Given the description of an element on the screen output the (x, y) to click on. 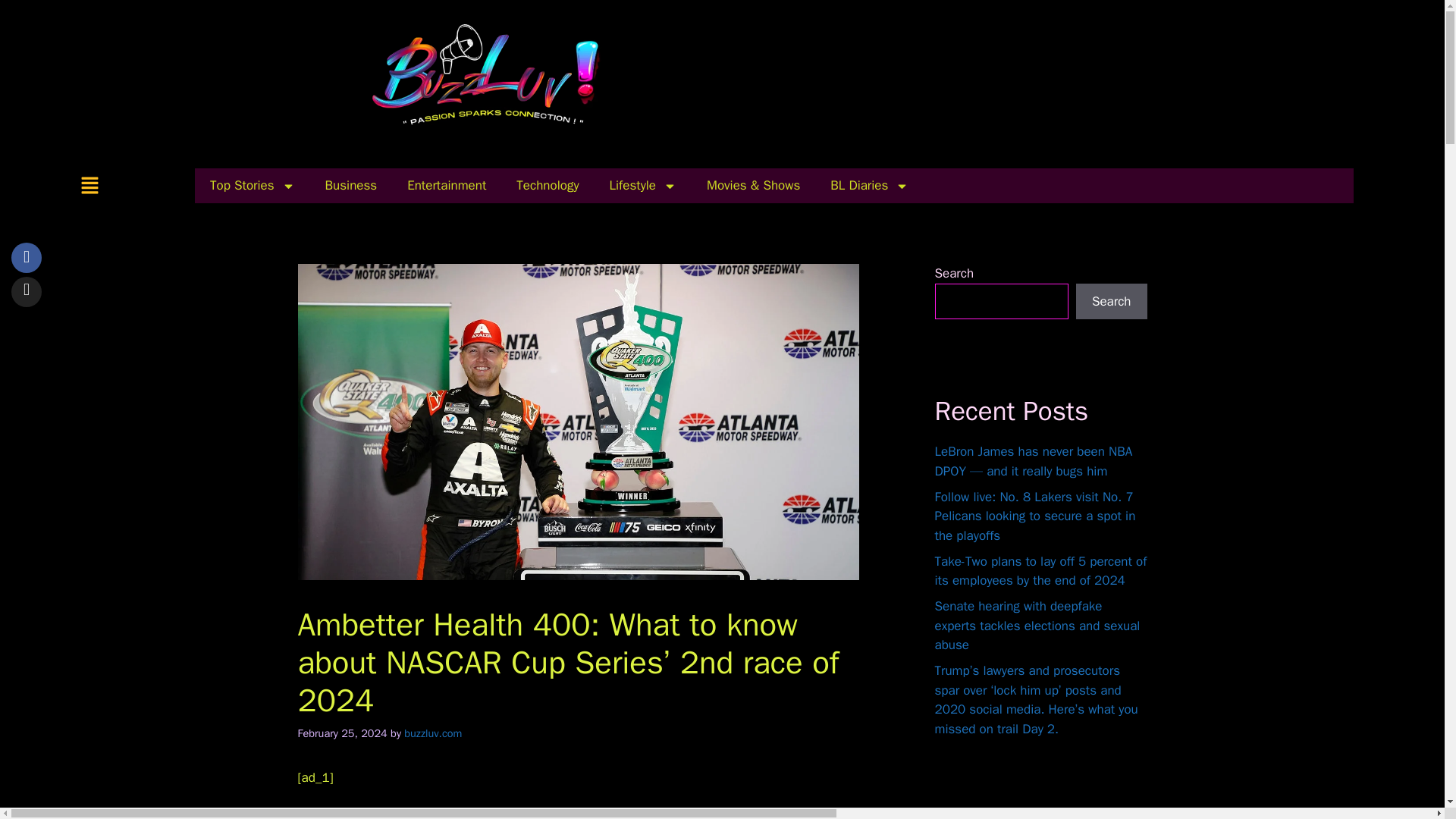
Business (349, 185)
Top Stories (252, 185)
Lifestyle (642, 185)
Entertainment (445, 185)
buzzluv.com (432, 733)
BL Diaries (869, 185)
View all posts by buzzluv.com (432, 733)
Technology (547, 185)
